Given the description of an element on the screen output the (x, y) to click on. 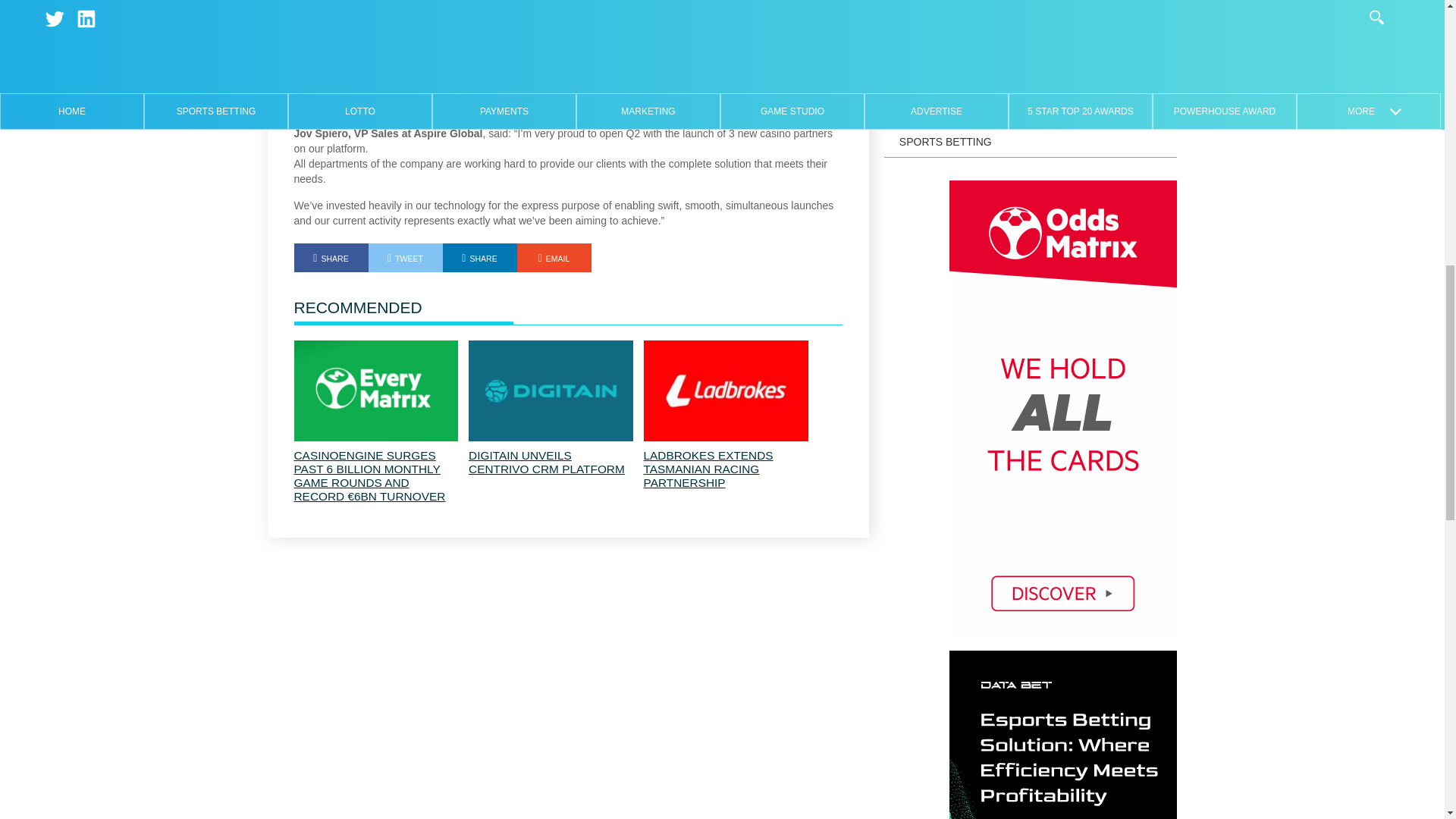
Facebook (331, 257)
Mail (553, 257)
SHARE (479, 257)
LADBROKES EXTENDS TASMANIAN RACING PARTNERSHIP (725, 468)
SHARE (331, 257)
TWEET (405, 257)
Linkedin (479, 257)
DIGITAIN UNVEILS CENTRIVO CRM PLATFORM (550, 461)
EMAIL (553, 257)
Twitter (405, 257)
